Given the description of an element on the screen output the (x, y) to click on. 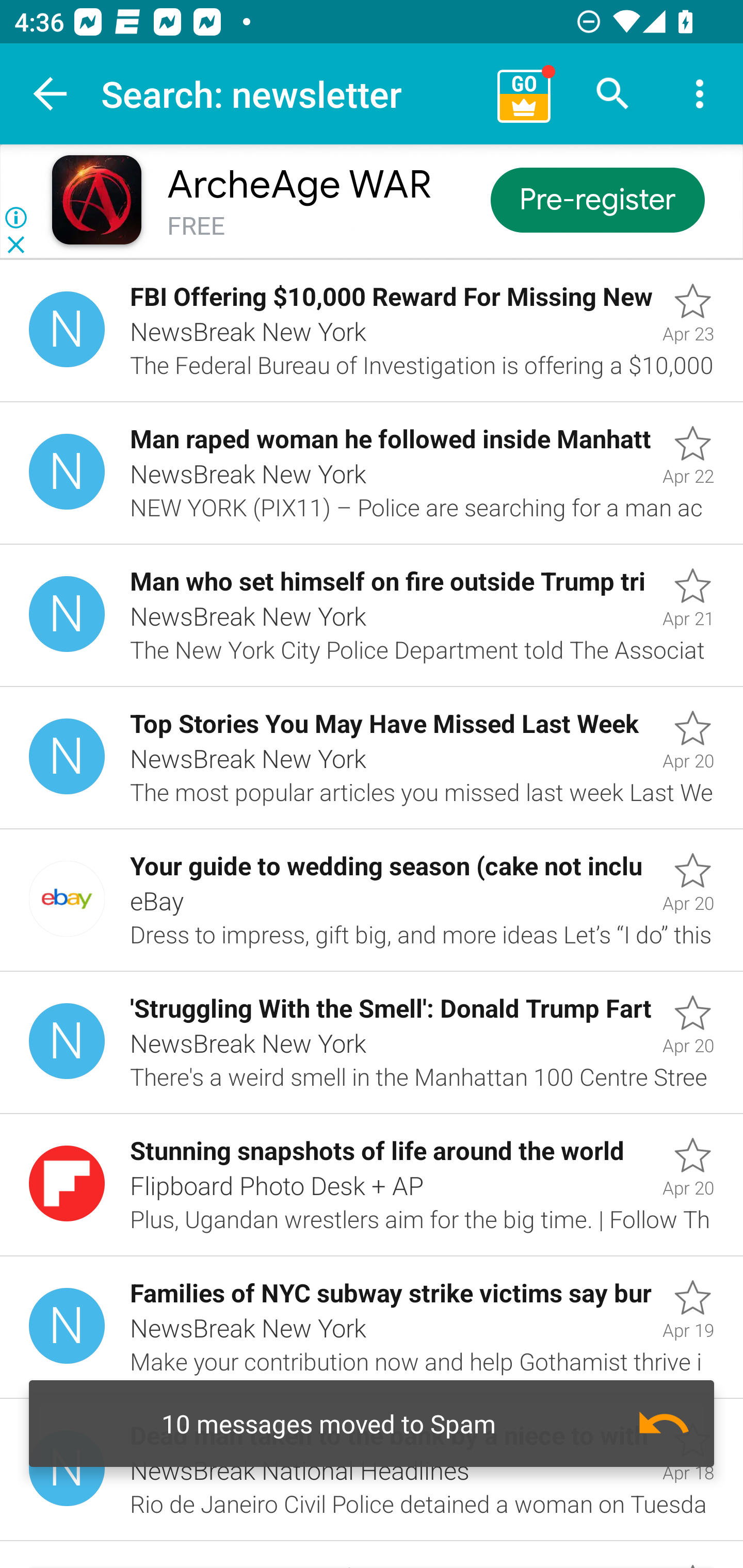
Navigate up (50, 93)
Search (612, 93)
More options (699, 93)
ArcheAge WAR (298, 184)
Pre-register (597, 199)
FREE (195, 225)
Undo 10 messages moved to Spam (371, 1423)
